Given the description of an element on the screen output the (x, y) to click on. 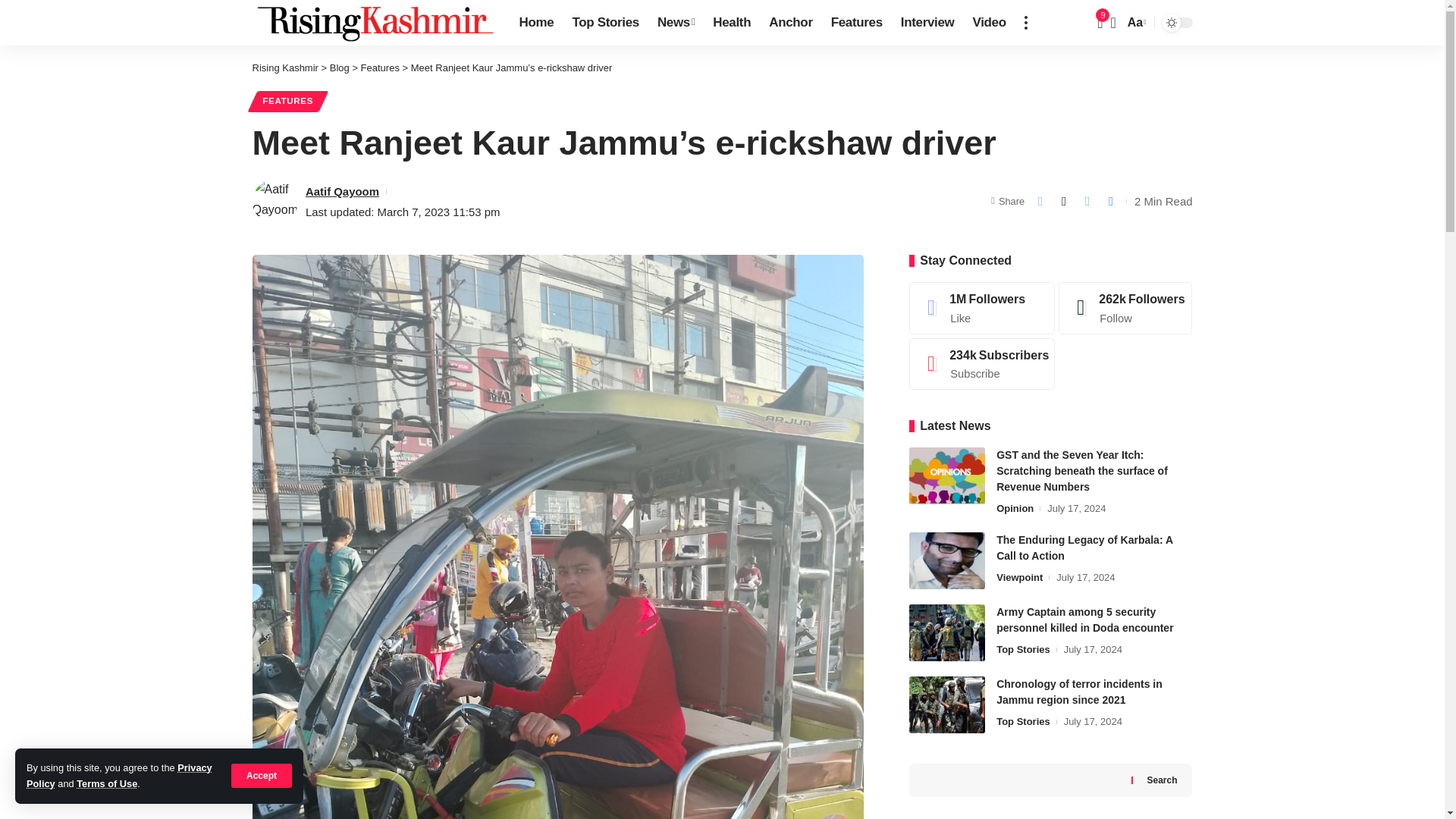
Rising Kashmir (373, 22)
Interview (927, 22)
Features (856, 22)
Go to Rising Kashmir. (284, 67)
Video (988, 22)
Top Stories (604, 22)
Health (731, 22)
Terms of Use (106, 783)
Anchor (790, 22)
News (675, 22)
Accept (261, 775)
Go to Blog. (339, 67)
Privacy Policy (119, 775)
Home (535, 22)
